Given the description of an element on the screen output the (x, y) to click on. 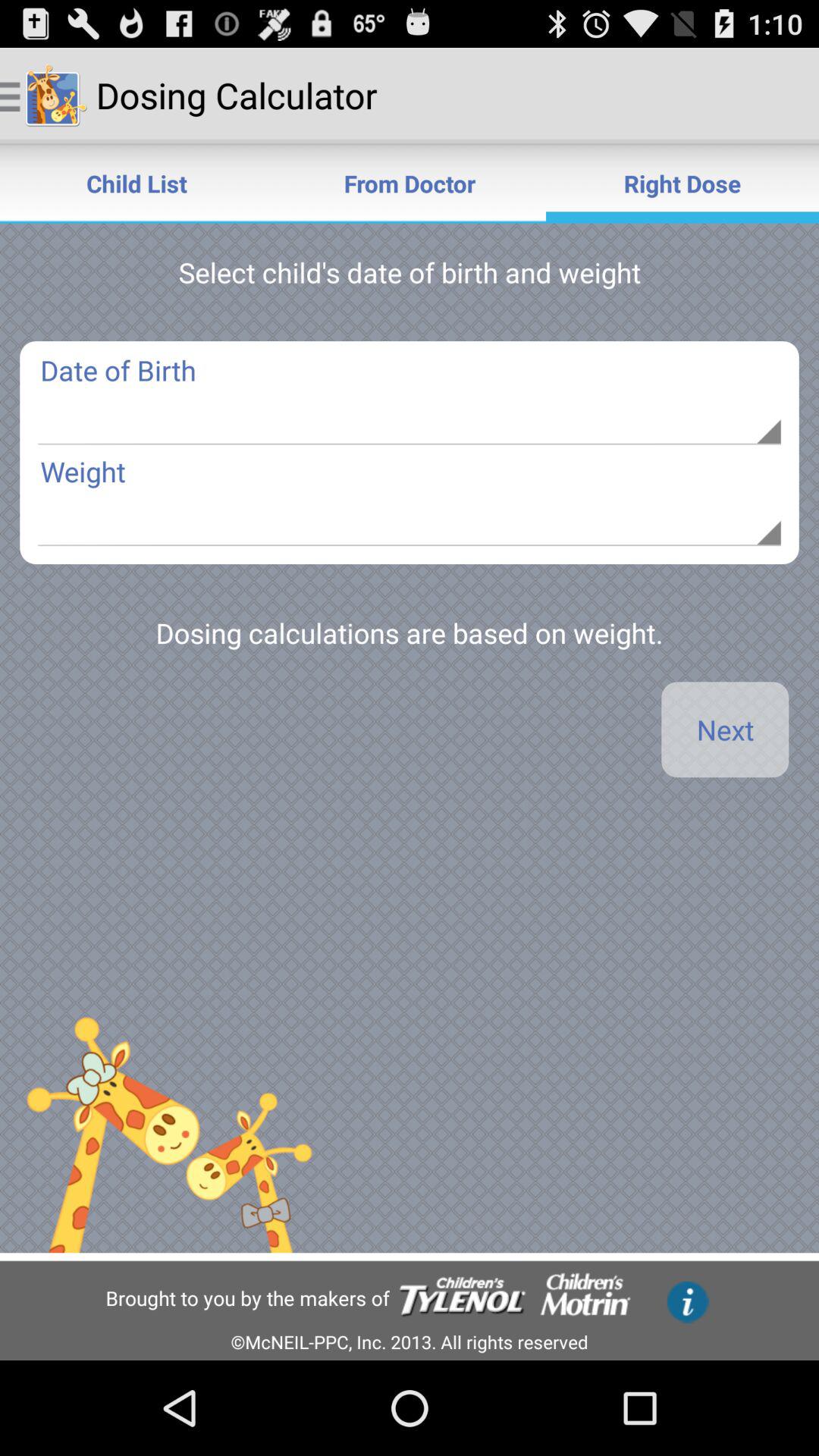
launch the app above the select child s item (136, 183)
